Given the description of an element on the screen output the (x, y) to click on. 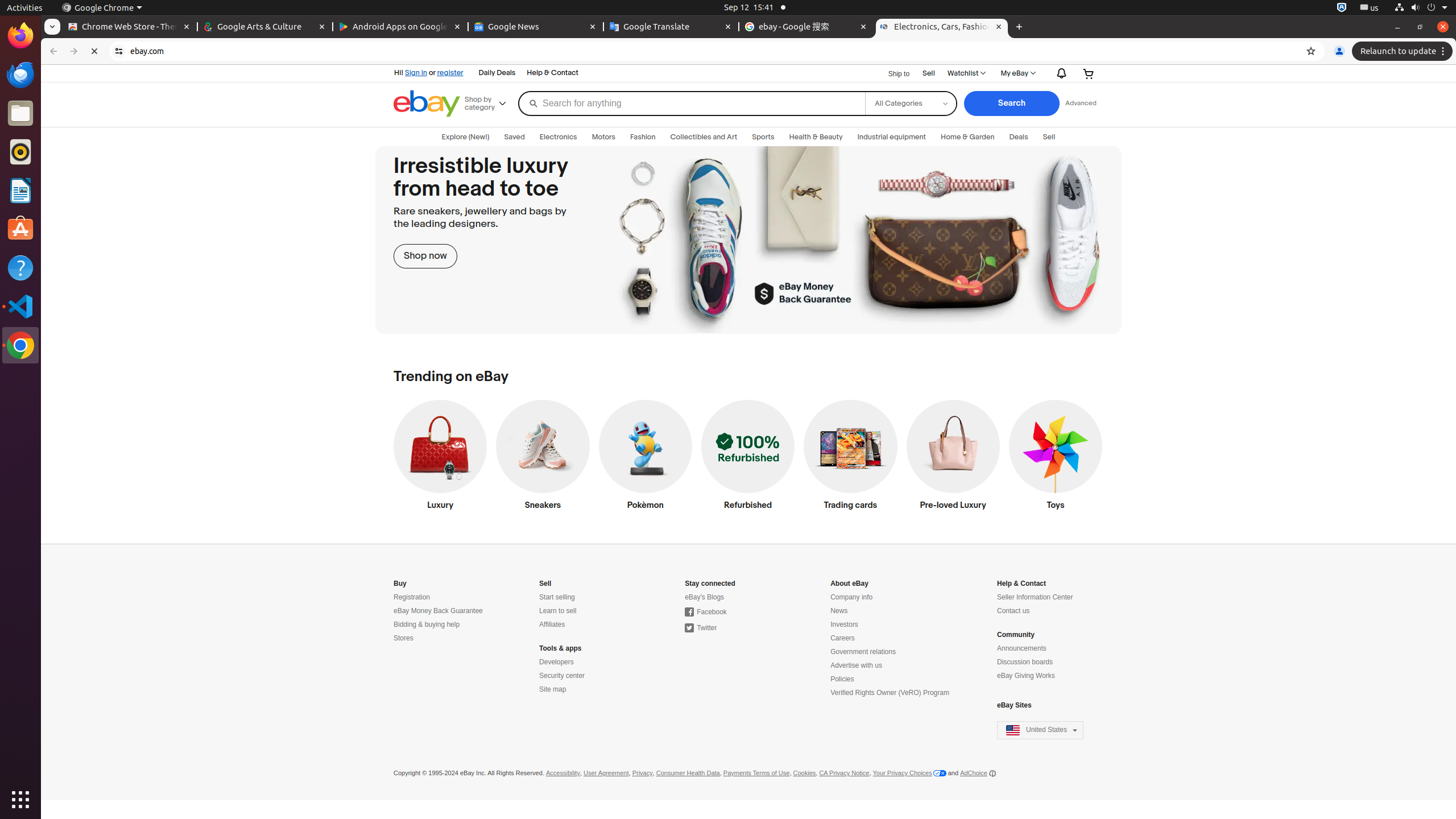
Bidding & buying help Element type: link (426, 624)
Health & Beauty Element type: link (815, 136)
Verified Rights Owner (VeRO) Program Element type: link (889, 692)
Forward Element type: push-button (73, 50)
Collectibles and Art Element type: link (703, 136)
